Given the description of an element on the screen output the (x, y) to click on. 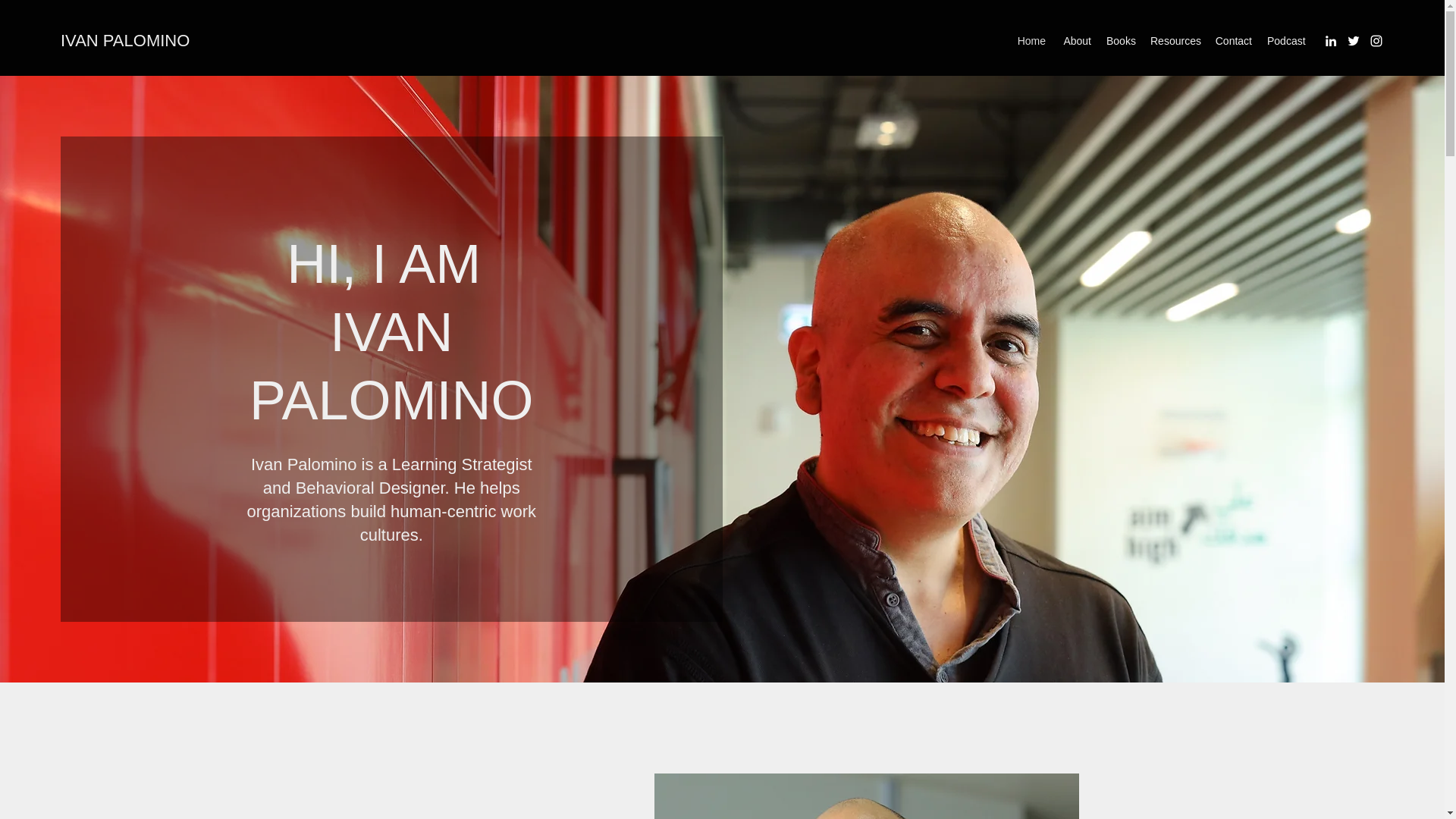
Resources (1174, 40)
Podcast (1286, 40)
IVAN PALOMINO (125, 40)
About (1075, 40)
Home (1030, 40)
Contact (1233, 40)
